Given the description of an element on the screen output the (x, y) to click on. 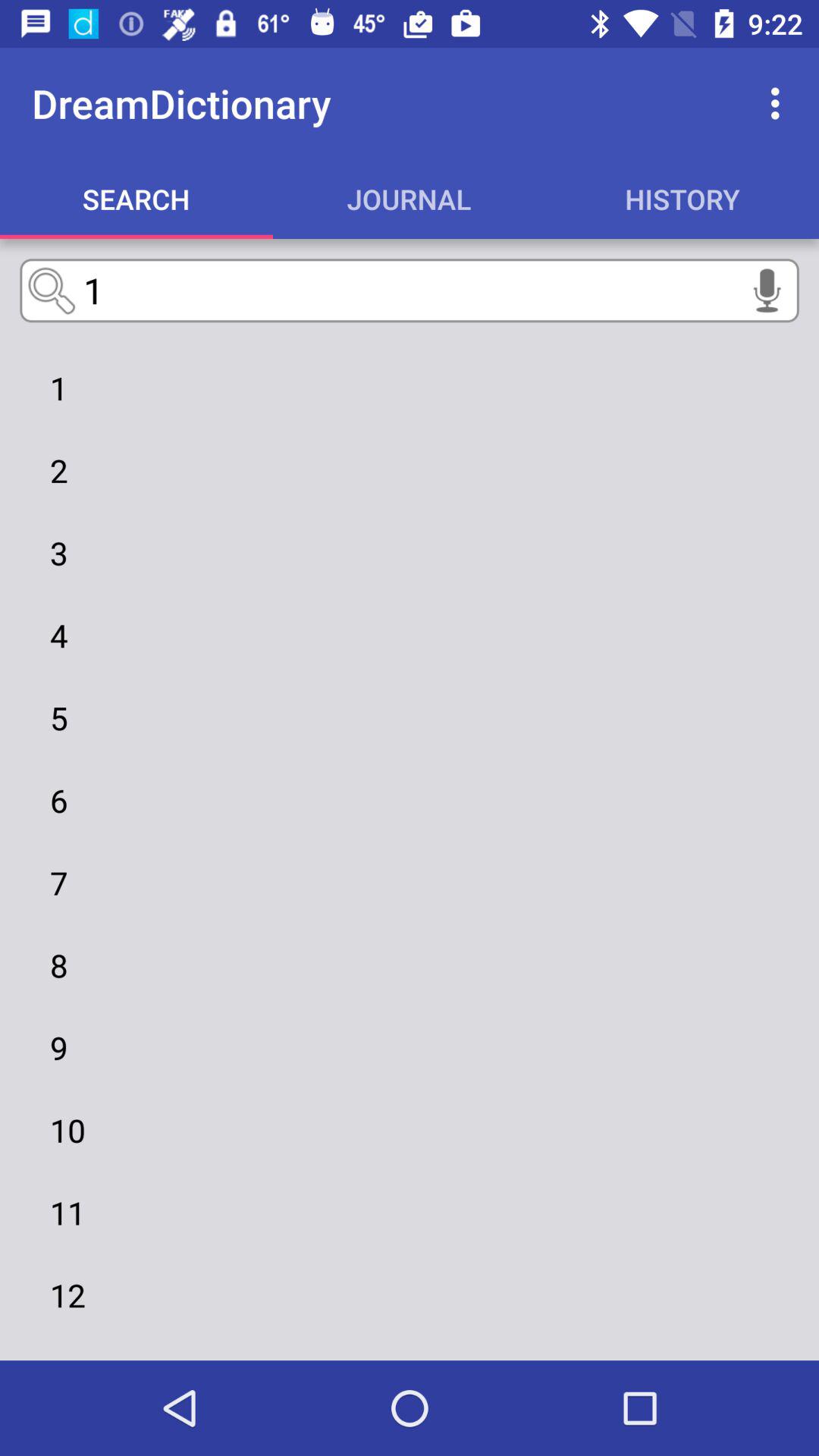
select the text right to the journal (682, 198)
select the text input field below the search option (409, 290)
